Given the description of an element on the screen output the (x, y) to click on. 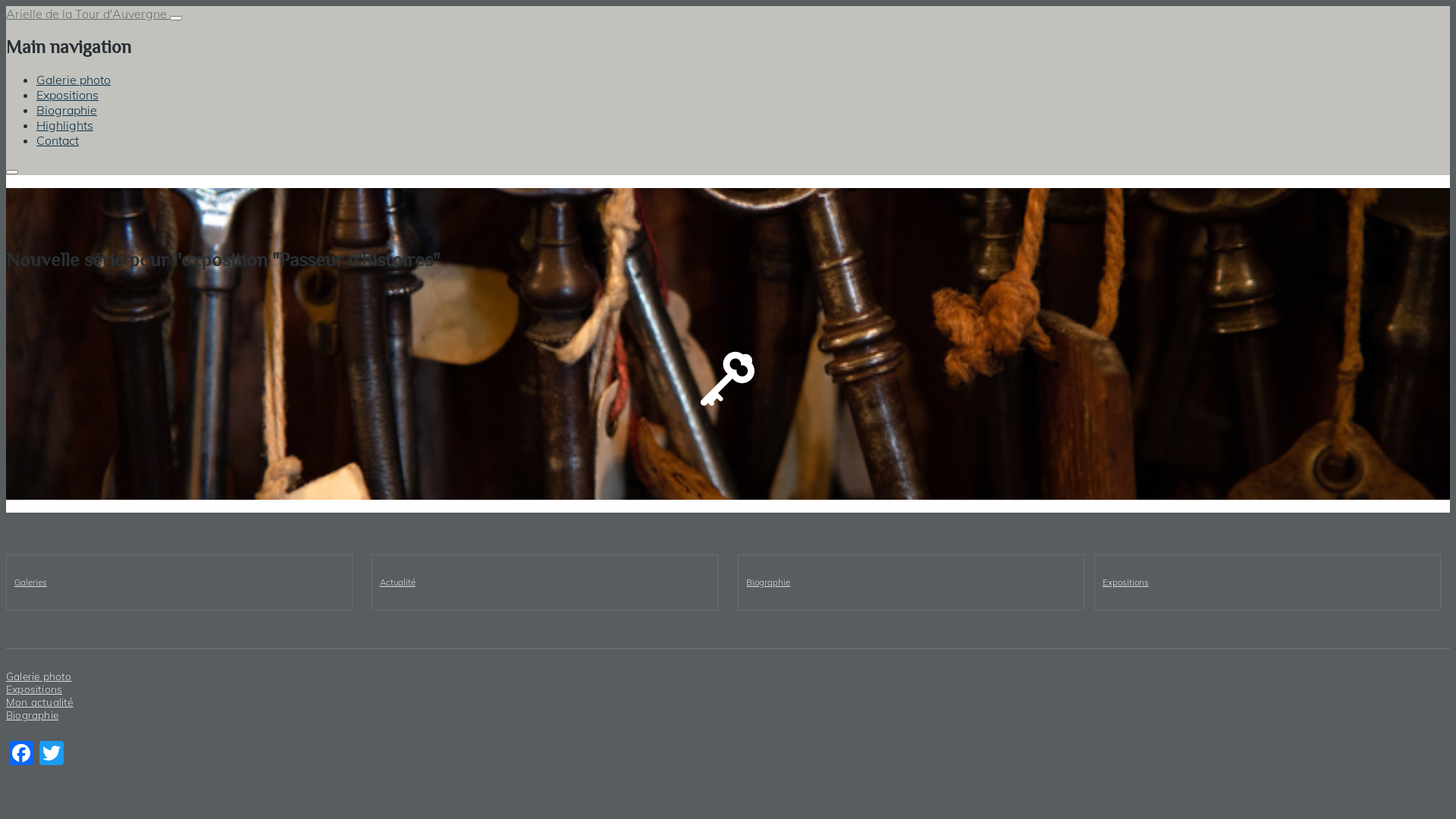
Twitter Element type: text (51, 751)
Expositions Element type: text (34, 688)
Expositions Element type: text (67, 94)
Biographie Element type: text (768, 582)
Biographie Element type: text (32, 714)
Contact Element type: text (57, 139)
Galerie photo Element type: text (73, 79)
Highlights Element type: text (64, 124)
Arielle de la Tour d'Auvergne Element type: text (87, 13)
Galerie photo Element type: text (39, 675)
Expositions Element type: text (1125, 582)
Facebook Element type: text (21, 751)
Biographie Element type: text (66, 109)
Aller au contenu principal Element type: text (728, 7)
Galeries Element type: text (30, 582)
